Given the description of an element on the screen output the (x, y) to click on. 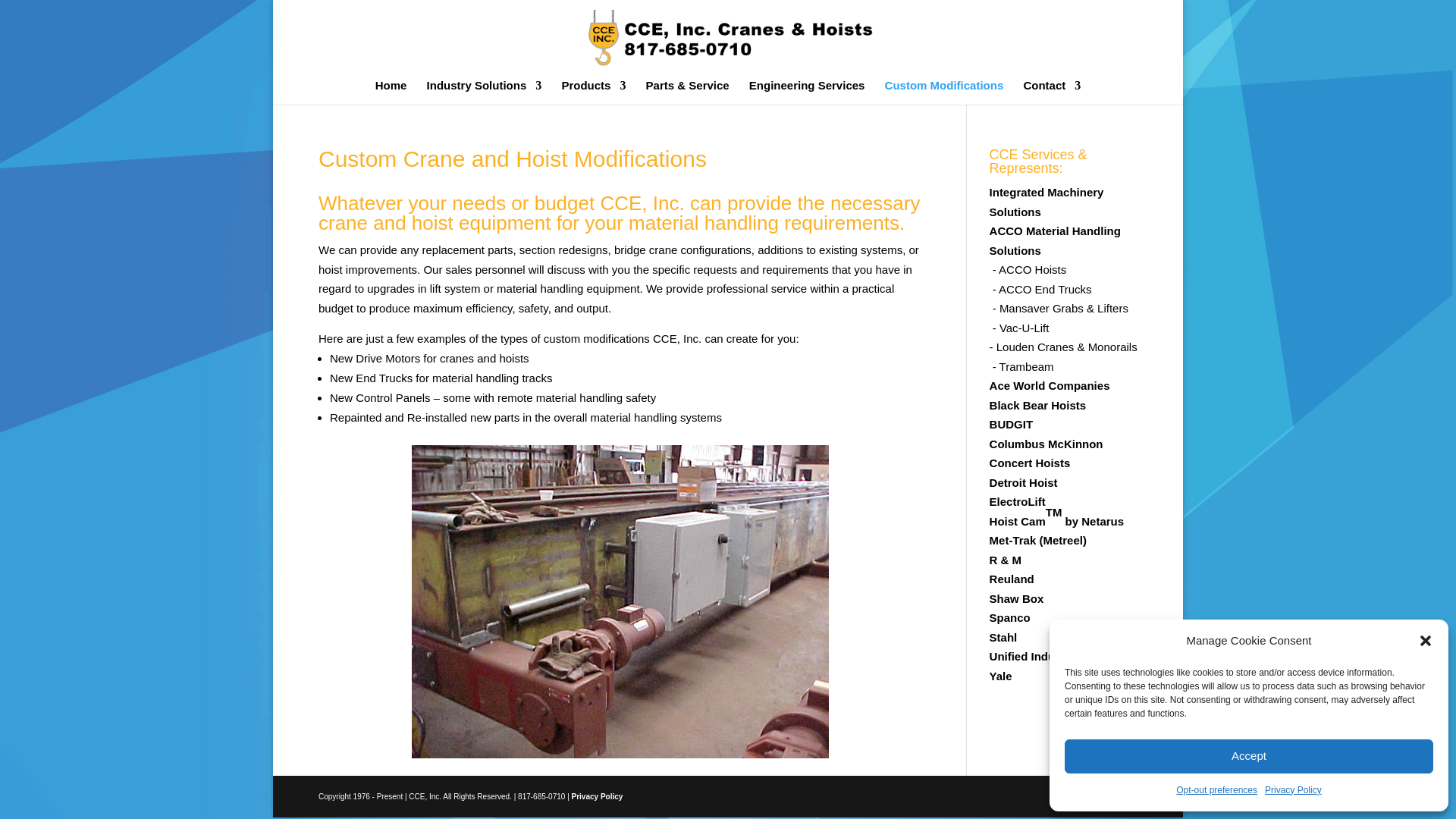
Privacy Policy (1293, 790)
Home (391, 92)
Products (593, 92)
Accept (1248, 755)
Industry Solutions (483, 92)
Engineering Services (806, 92)
Opt-out preferences (1216, 790)
Custom Modifications (944, 92)
Contact (1051, 92)
